Given the description of an element on the screen output the (x, y) to click on. 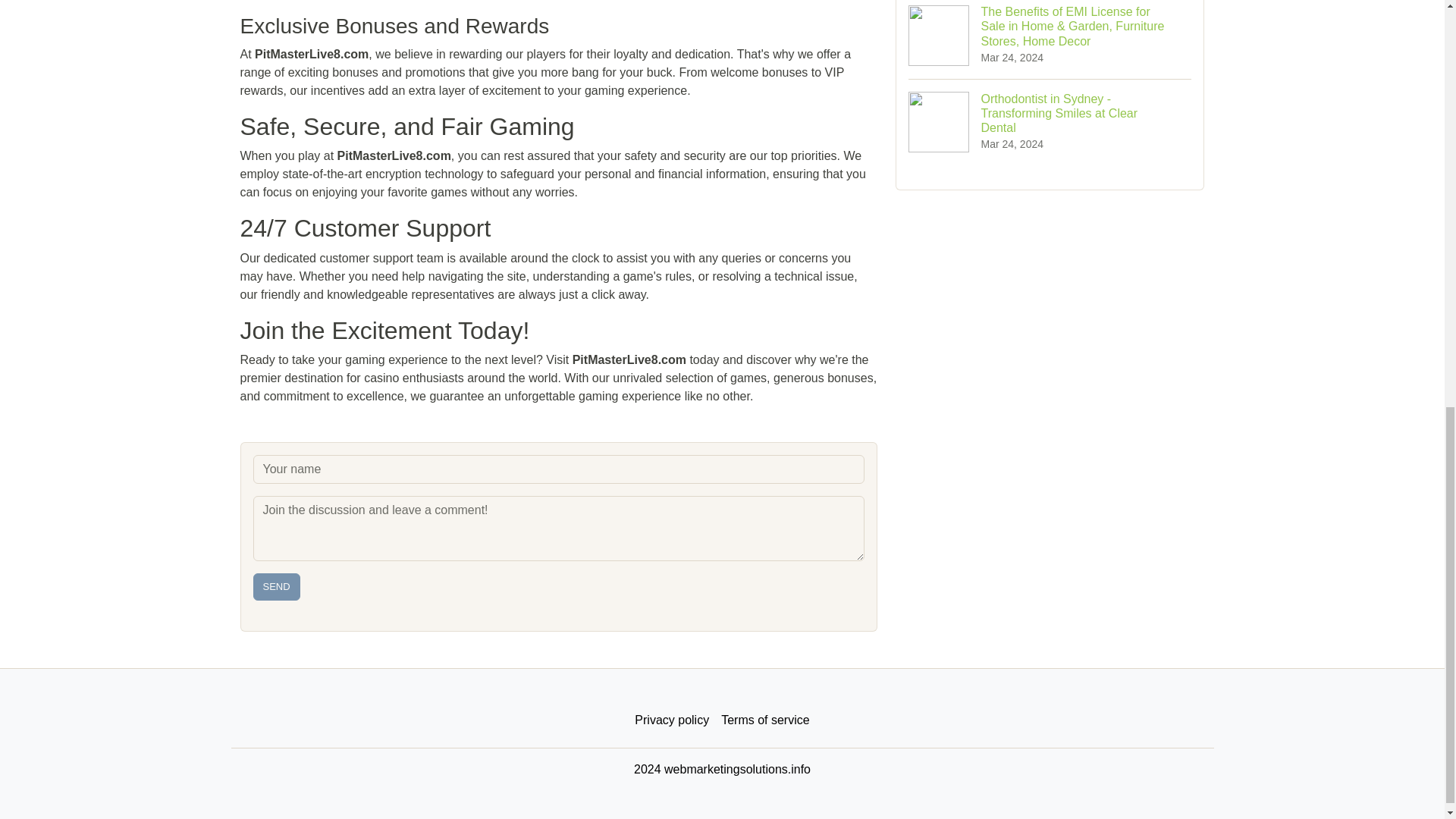
Terms of service (764, 720)
Privacy policy (671, 720)
Send (276, 586)
Send (276, 586)
